Given the description of an element on the screen output the (x, y) to click on. 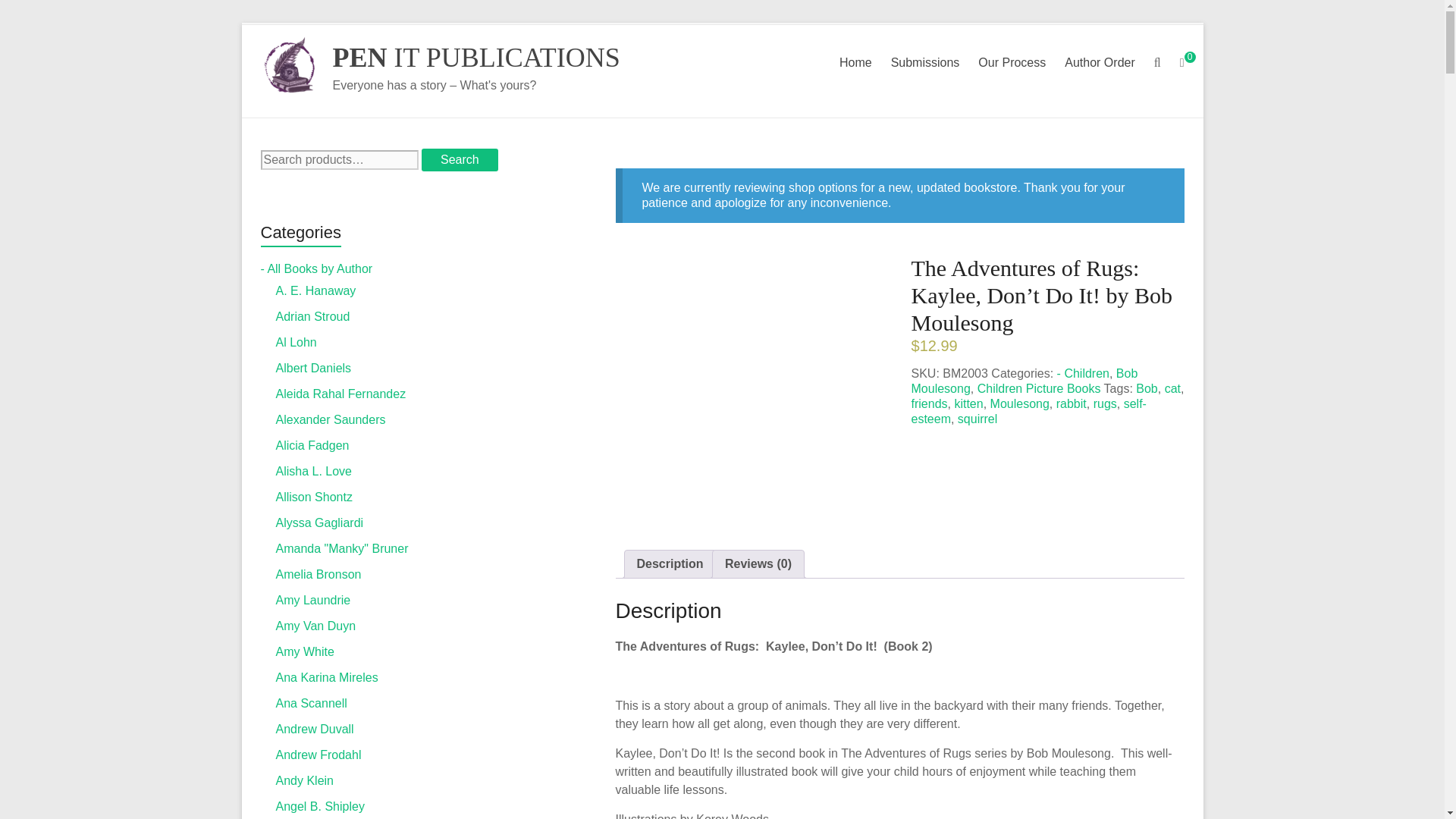
- Children (1083, 373)
Moulesong (1019, 403)
Pen It Publications (475, 57)
Al Lohn (296, 341)
A. E. Hanaway (316, 290)
Submissions (925, 62)
- All Books by Author (316, 268)
kitten (967, 403)
Albert Daniels (314, 367)
self-esteem (1029, 411)
Children Picture Books (1038, 388)
rabbit (1071, 403)
rugs (1104, 403)
PEN IT PUBLICATIONS (475, 57)
